Given the description of an element on the screen output the (x, y) to click on. 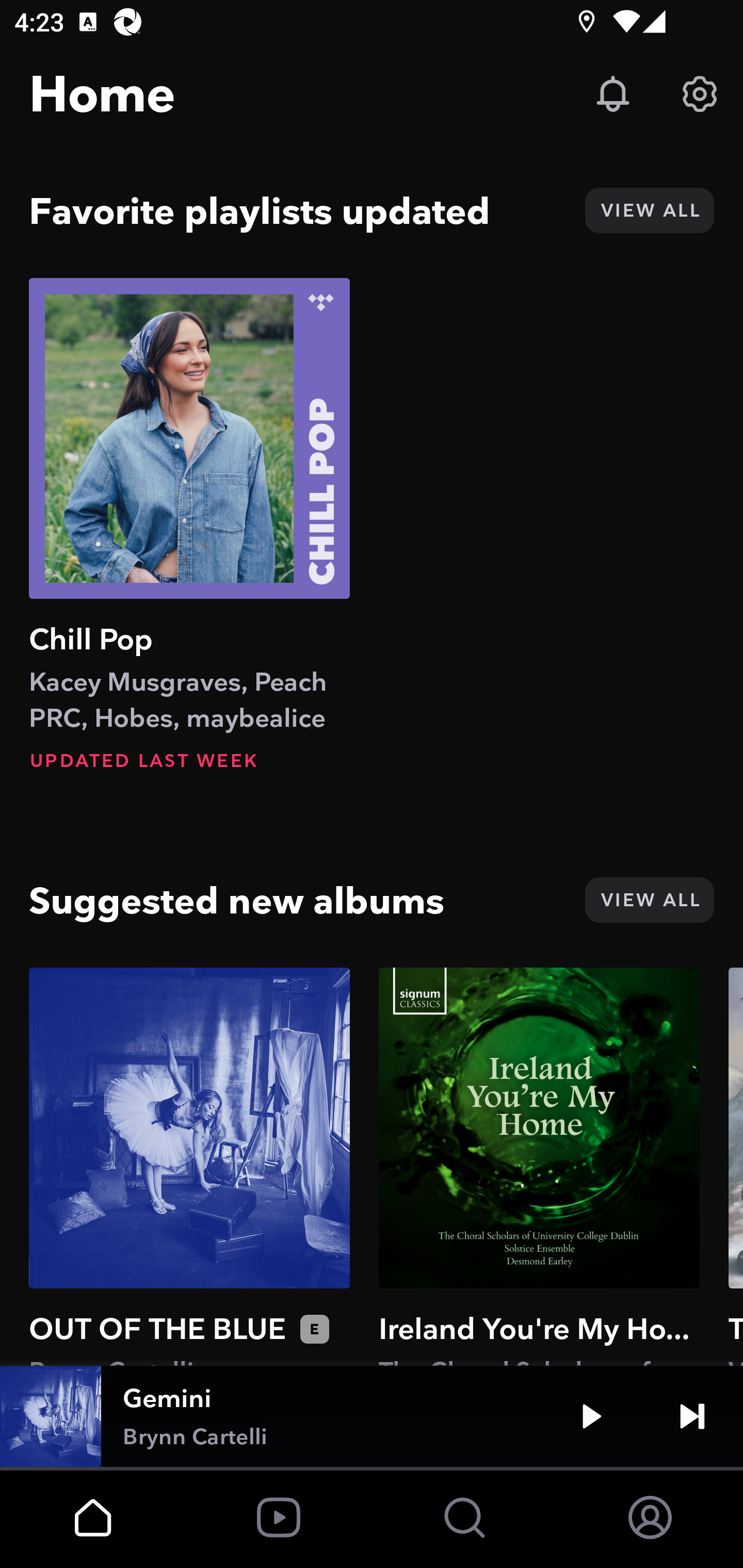
Updates (612, 93)
Settings (699, 93)
VIEW ALL (649, 210)
VIEW ALL (649, 899)
OUT OF THE BLUE Brynn Cartelli (188, 1166)
Gemini Brynn Cartelli Play (371, 1416)
Play (590, 1416)
